Given the description of an element on the screen output the (x, y) to click on. 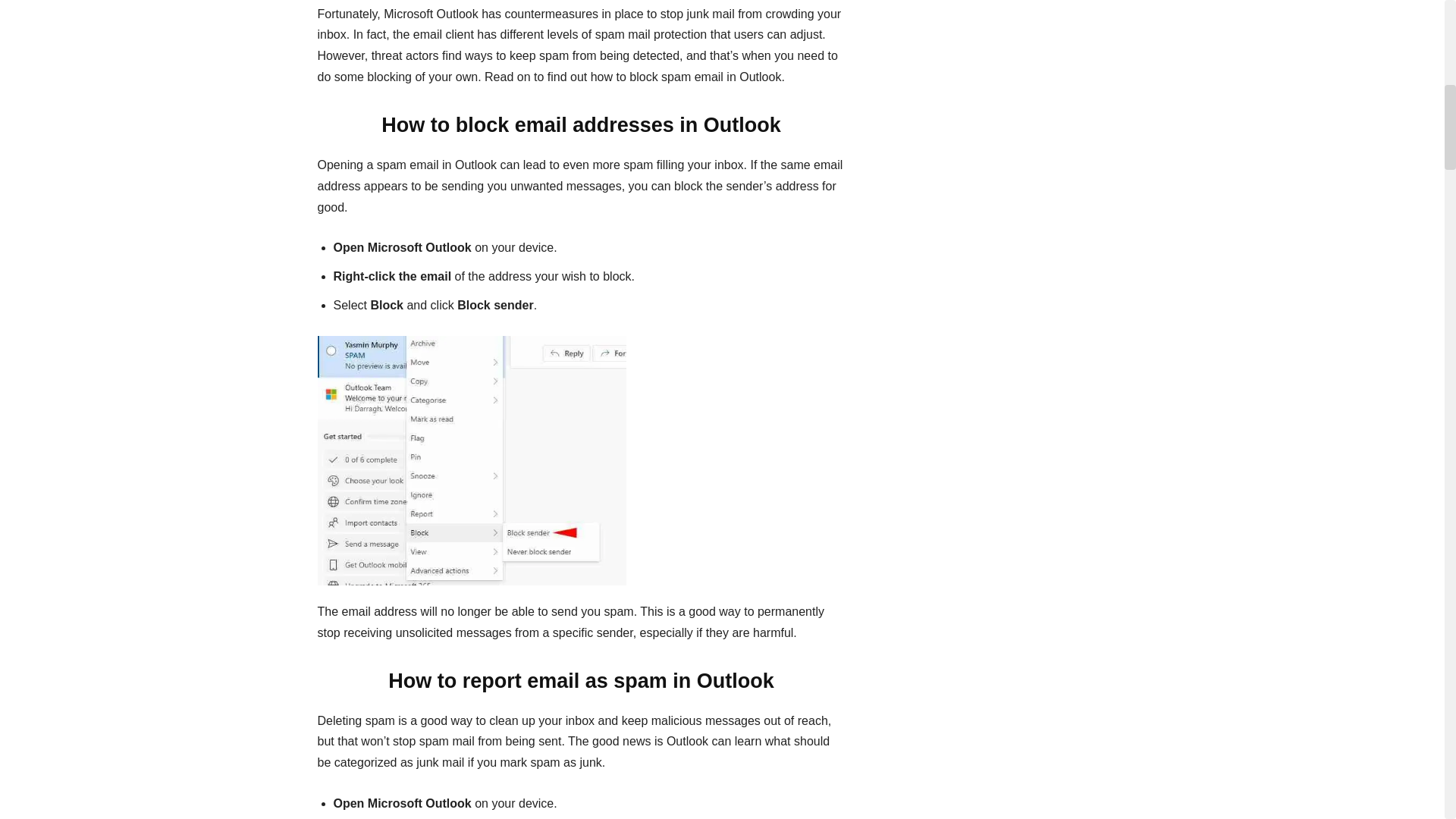
Microsoft Outlook how to block spam emails 1 (471, 460)
